Given the description of an element on the screen output the (x, y) to click on. 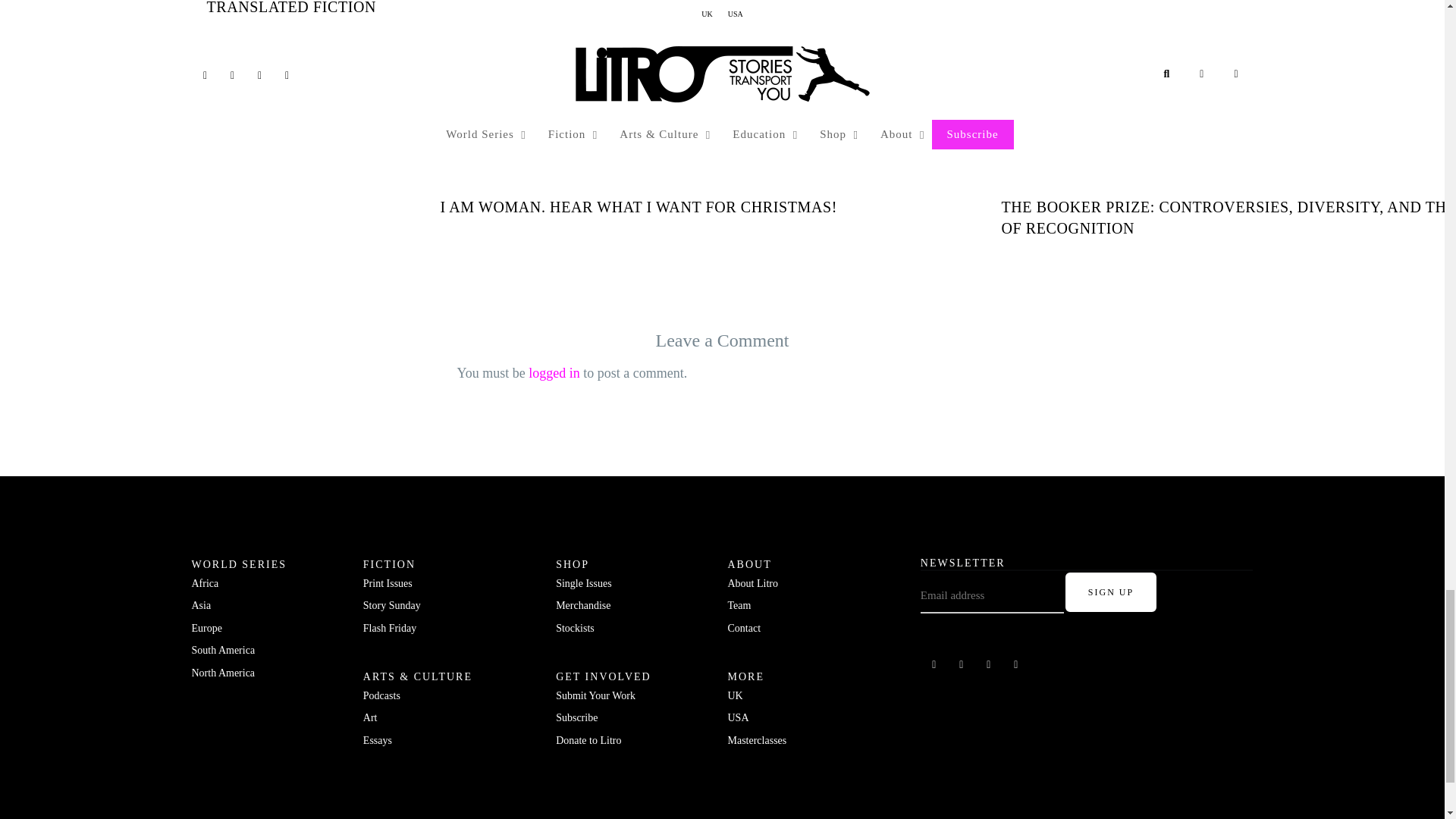
Facebook (933, 664)
Flickr (961, 664)
Instagram (989, 664)
Sign up (1110, 591)
Twitter (1016, 664)
